Given the description of an element on the screen output the (x, y) to click on. 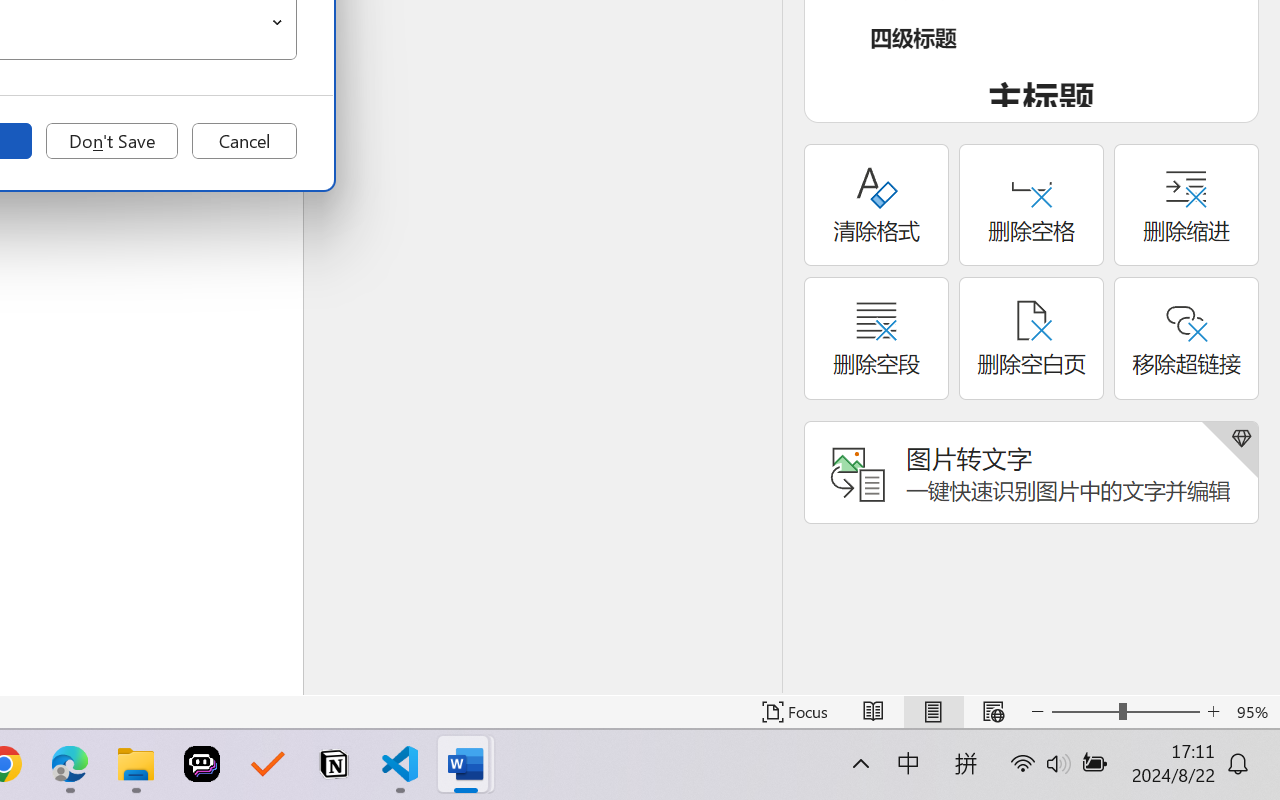
Cancel (244, 141)
